Given the description of an element on the screen output the (x, y) to click on. 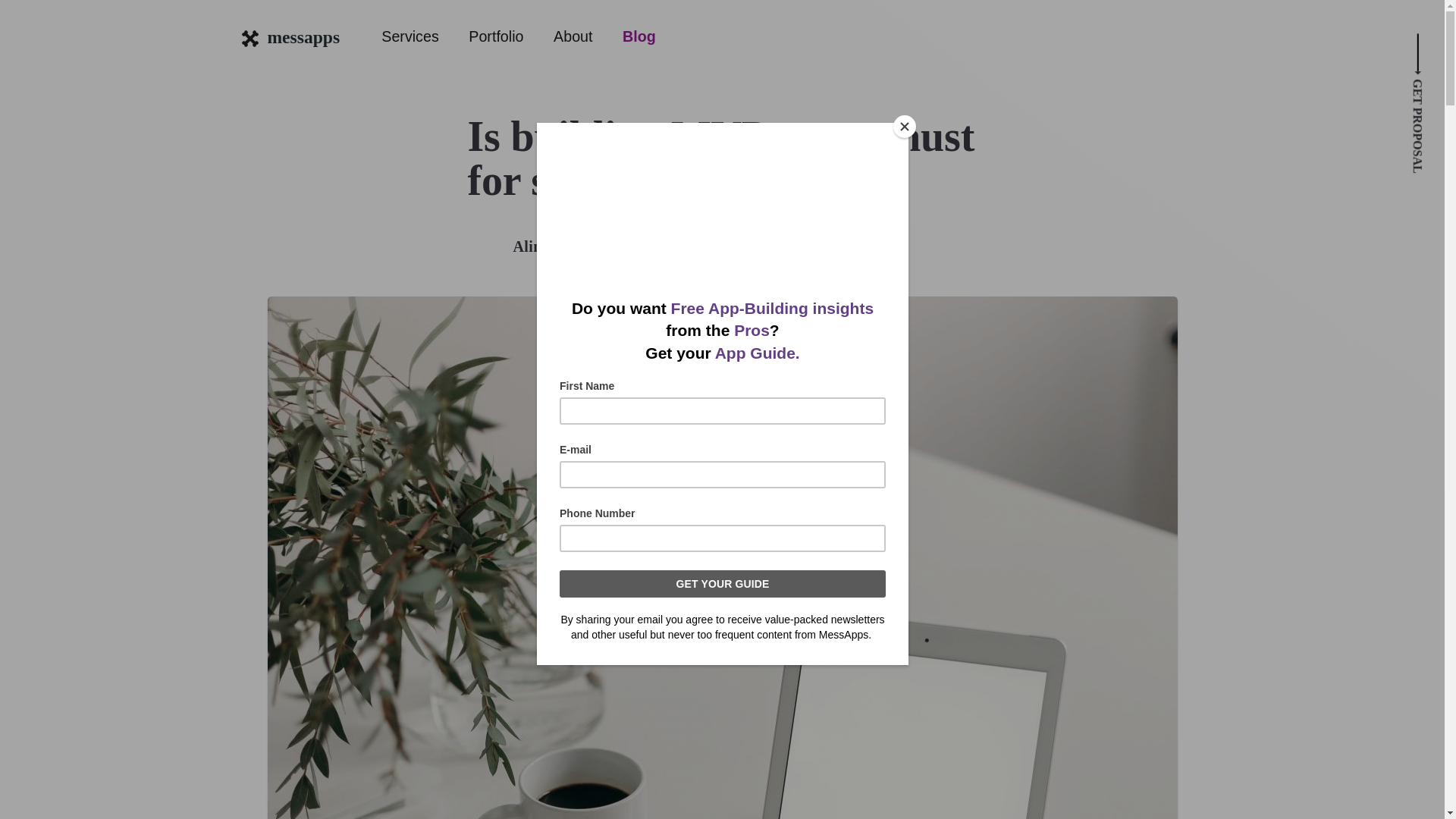
About (572, 36)
messapps (290, 36)
Blog (639, 36)
Services (409, 36)
Portfolio (495, 36)
